Given the description of an element on the screen output the (x, y) to click on. 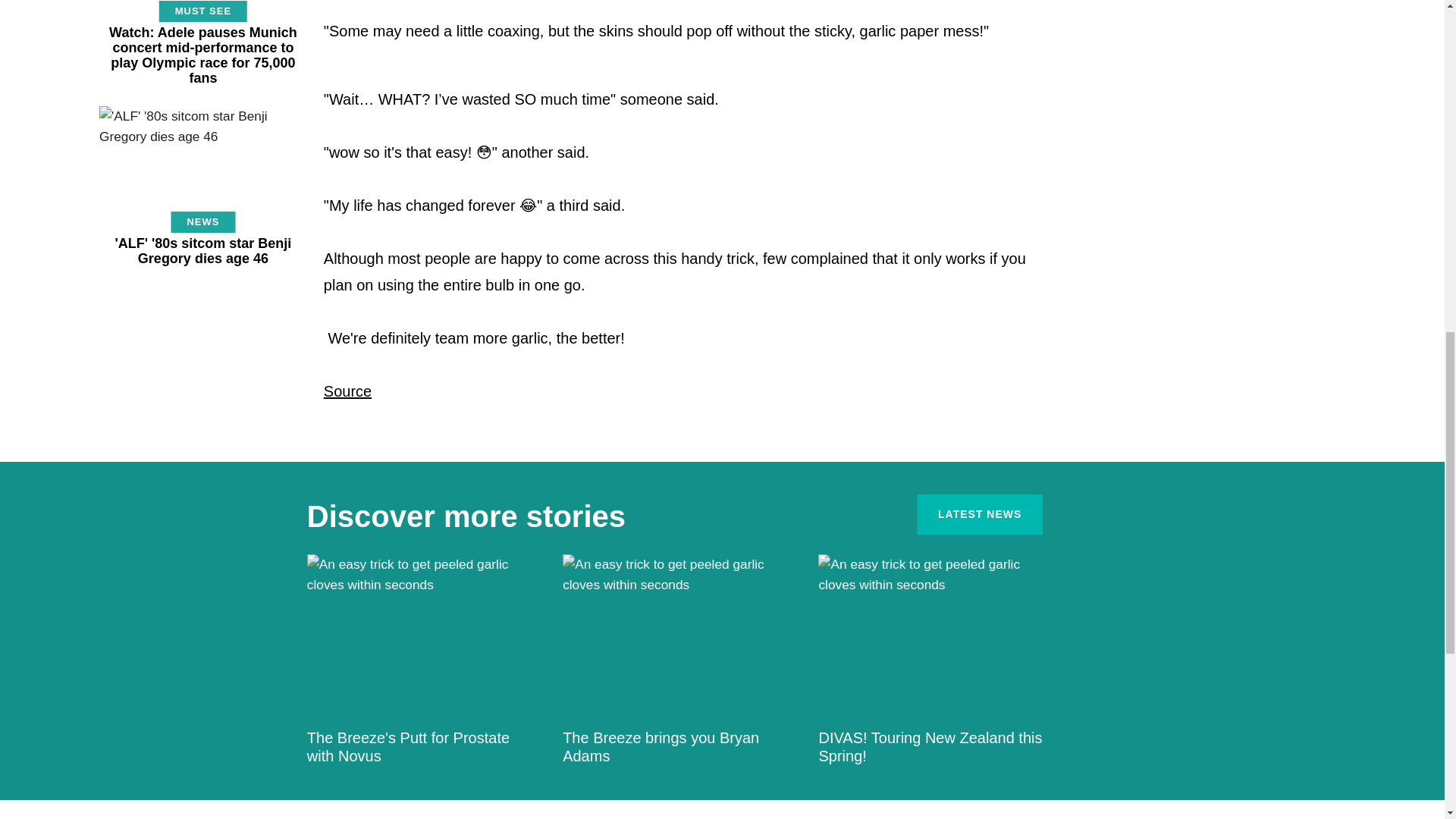
NEWS (202, 221)
MUST SEE (202, 11)
